Given the description of an element on the screen output the (x, y) to click on. 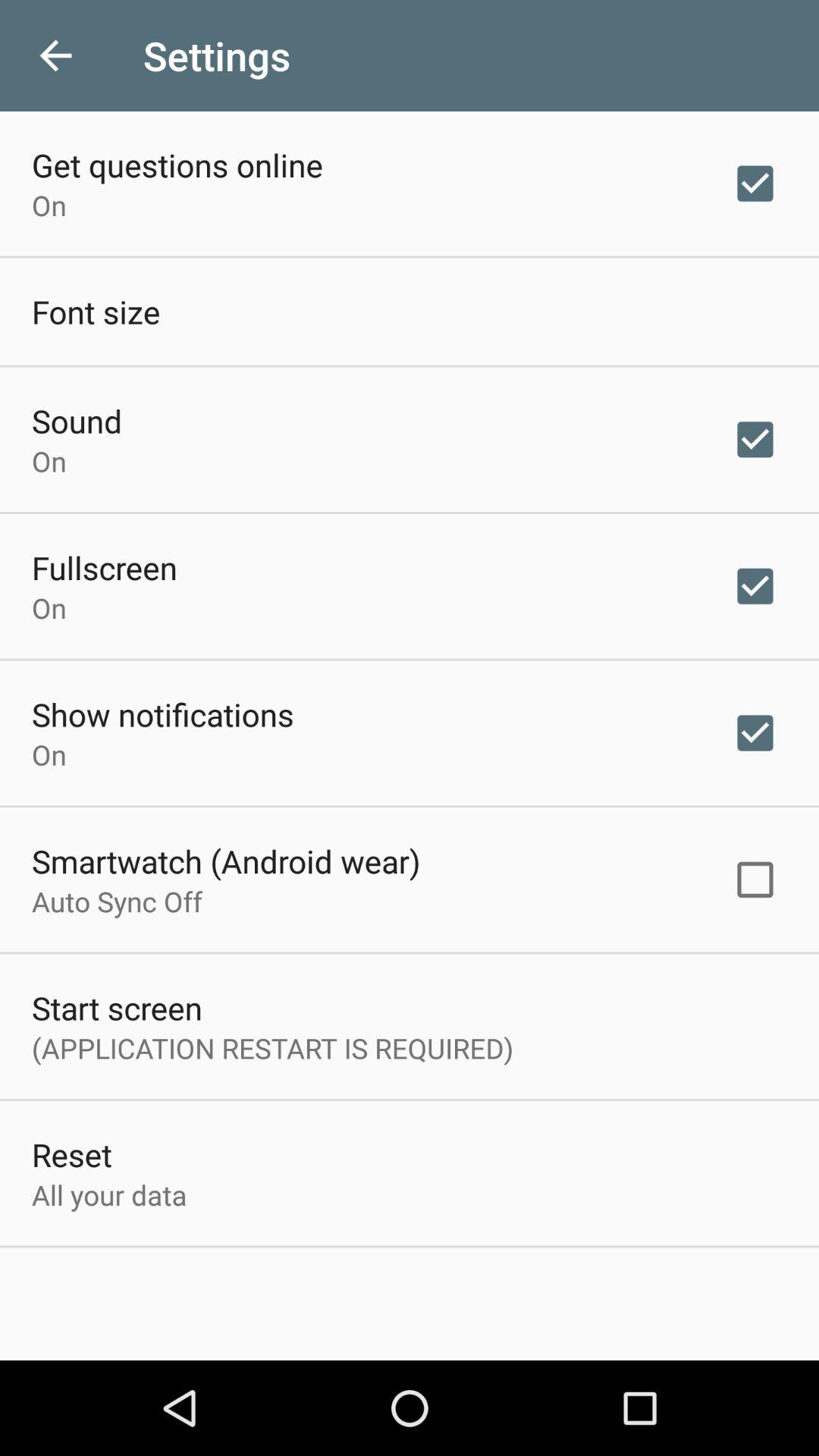
tap icon below the on icon (104, 567)
